Given the description of an element on the screen output the (x, y) to click on. 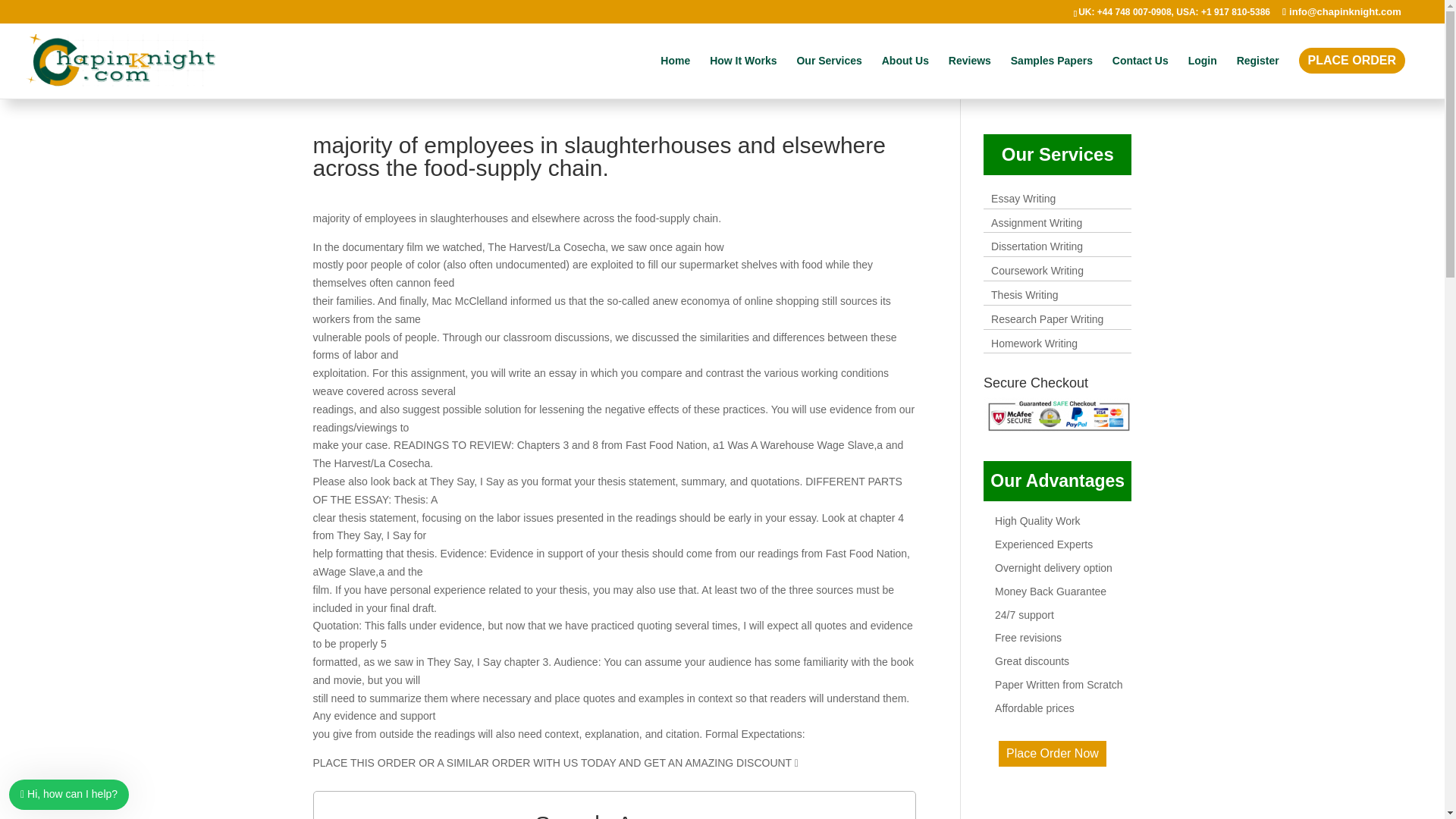
Order Now (1052, 753)
PLACE ORDER (1351, 72)
Dissertation Writing Services (1037, 246)
Coursework Writing Services (1037, 270)
About Us (905, 72)
Homework Writing (1034, 343)
PLACE ORDER (1351, 60)
Register (1257, 72)
Essay Writing Services (1023, 198)
Research Paper Writing Services (1047, 318)
Homework Writing Services (1034, 343)
Samples Papers (1051, 72)
Coursework Writing (1037, 270)
How It Works (743, 72)
Place Order Now (1052, 753)
